Given the description of an element on the screen output the (x, y) to click on. 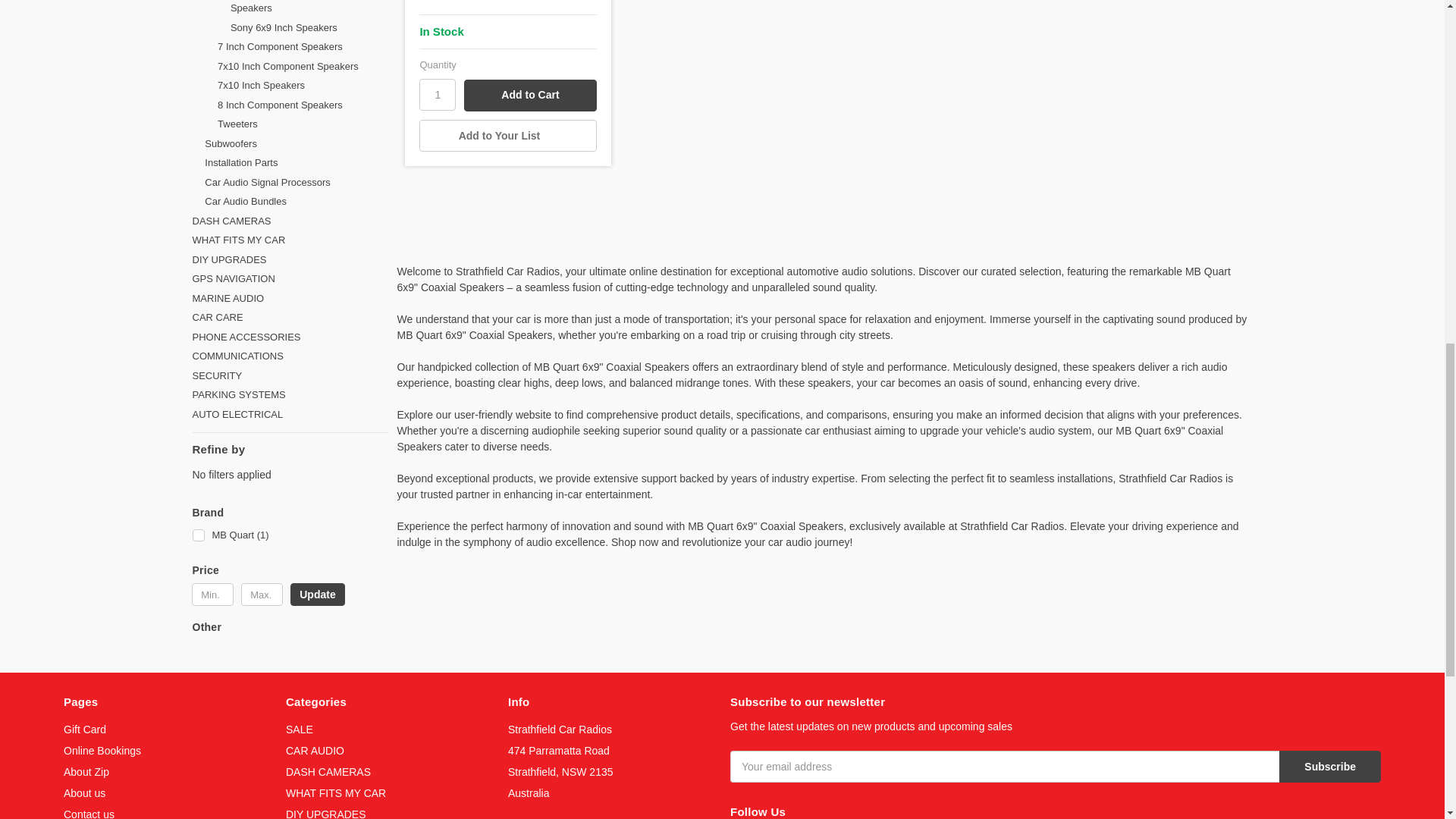
1 (437, 94)
Add to Cart (529, 95)
Subscribe (1329, 766)
